Given the description of an element on the screen output the (x, y) to click on. 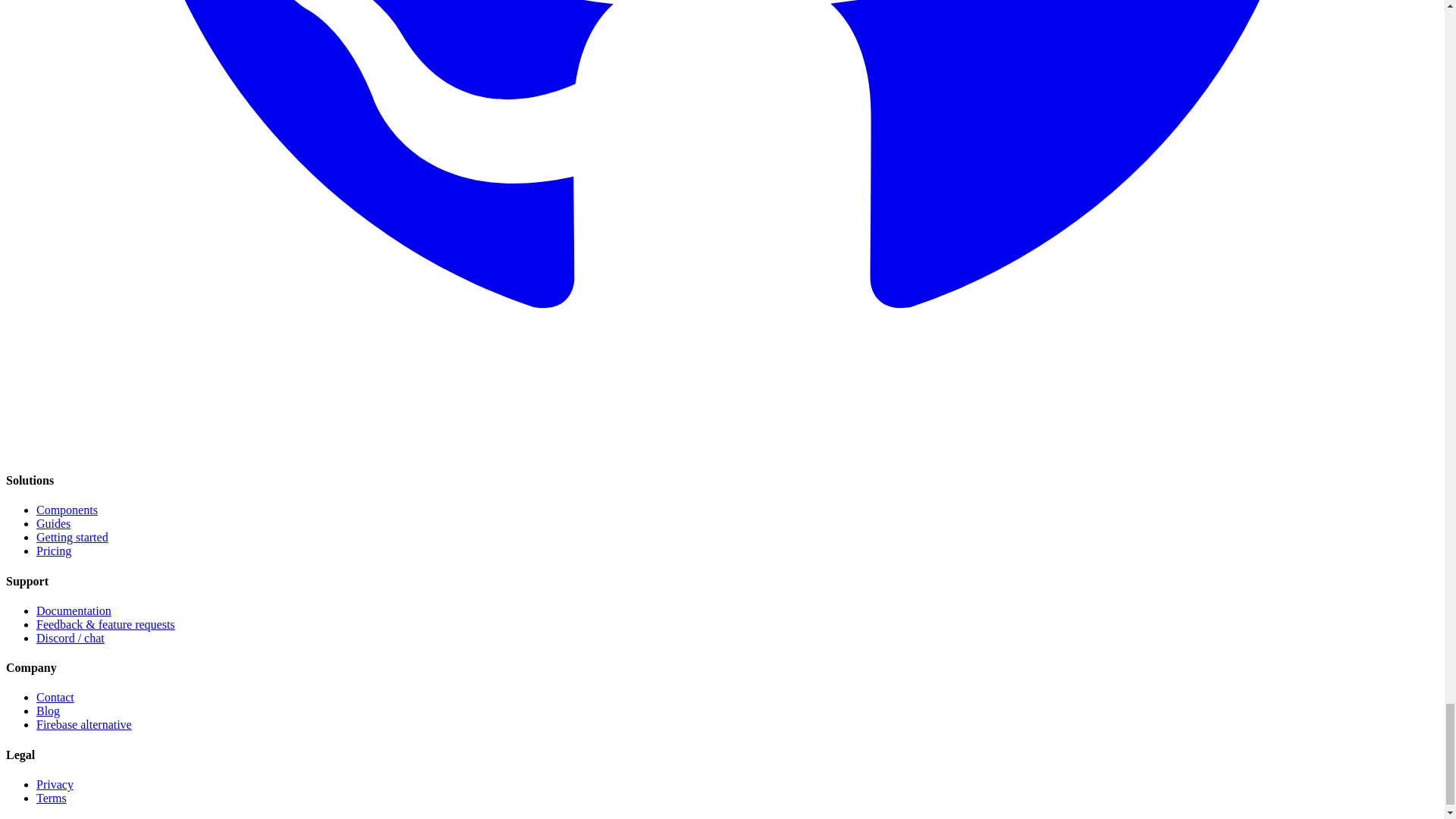
Terms (51, 797)
Getting started (71, 536)
Documentation (74, 610)
Contact (55, 697)
Privacy (55, 784)
Guides (52, 522)
Components (66, 509)
Blog (47, 710)
Firebase alternative (84, 724)
Pricing (53, 550)
